Given the description of an element on the screen output the (x, y) to click on. 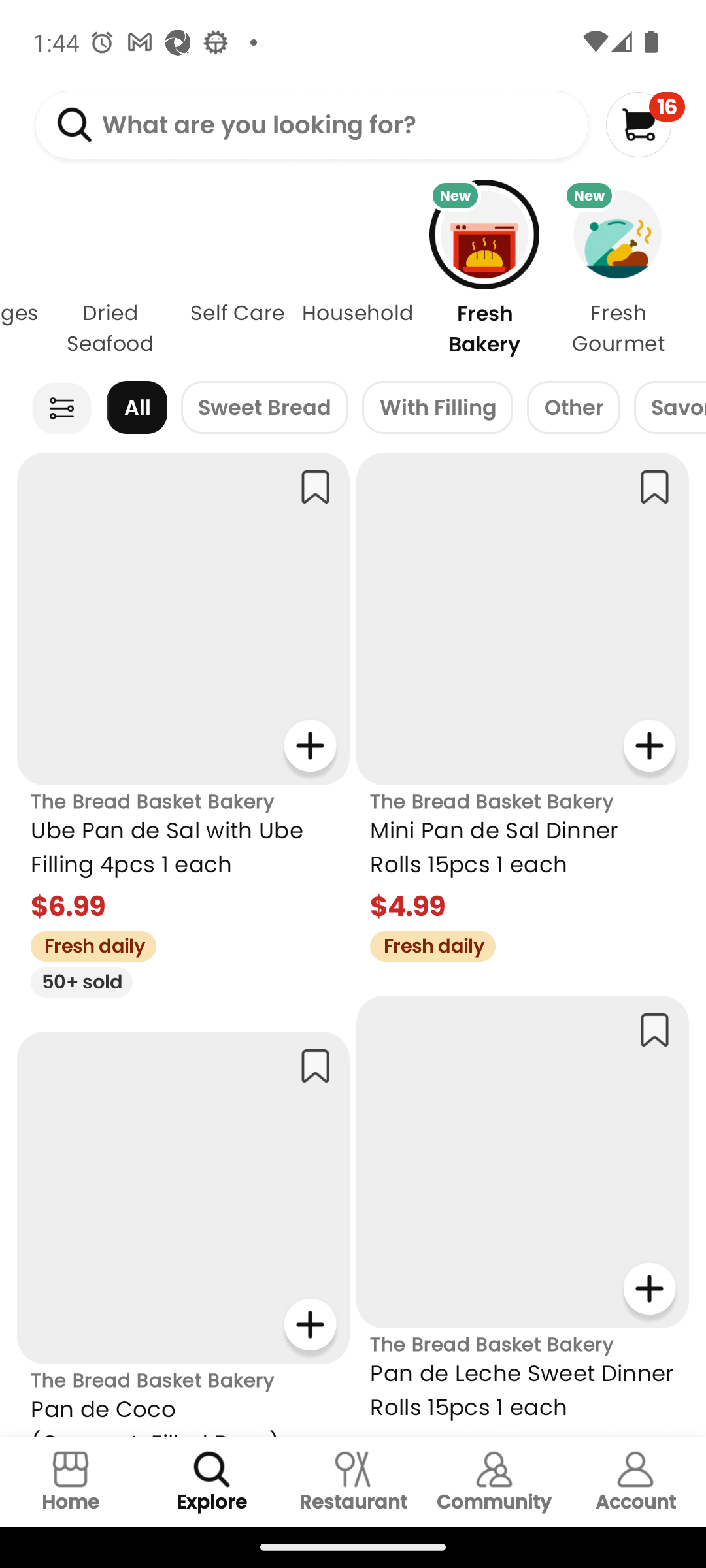
What are you looking for? (311, 124)
16 (644, 124)
Dried Seafood (110, 273)
Self Care (237, 273)
Household (357, 273)
New Fresh Bakery (484, 273)
New Fresh Gourmet (628, 273)
All (136, 407)
Sweet Bread (264, 407)
With Filling (437, 407)
Other (573, 407)
Savory Bread (669, 407)
Fresh daily (86, 943)
Fresh daily (425, 943)
Home (70, 1482)
Explore (211, 1482)
Restaurant (352, 1482)
Community (493, 1482)
Account (635, 1482)
